Given the description of an element on the screen output the (x, y) to click on. 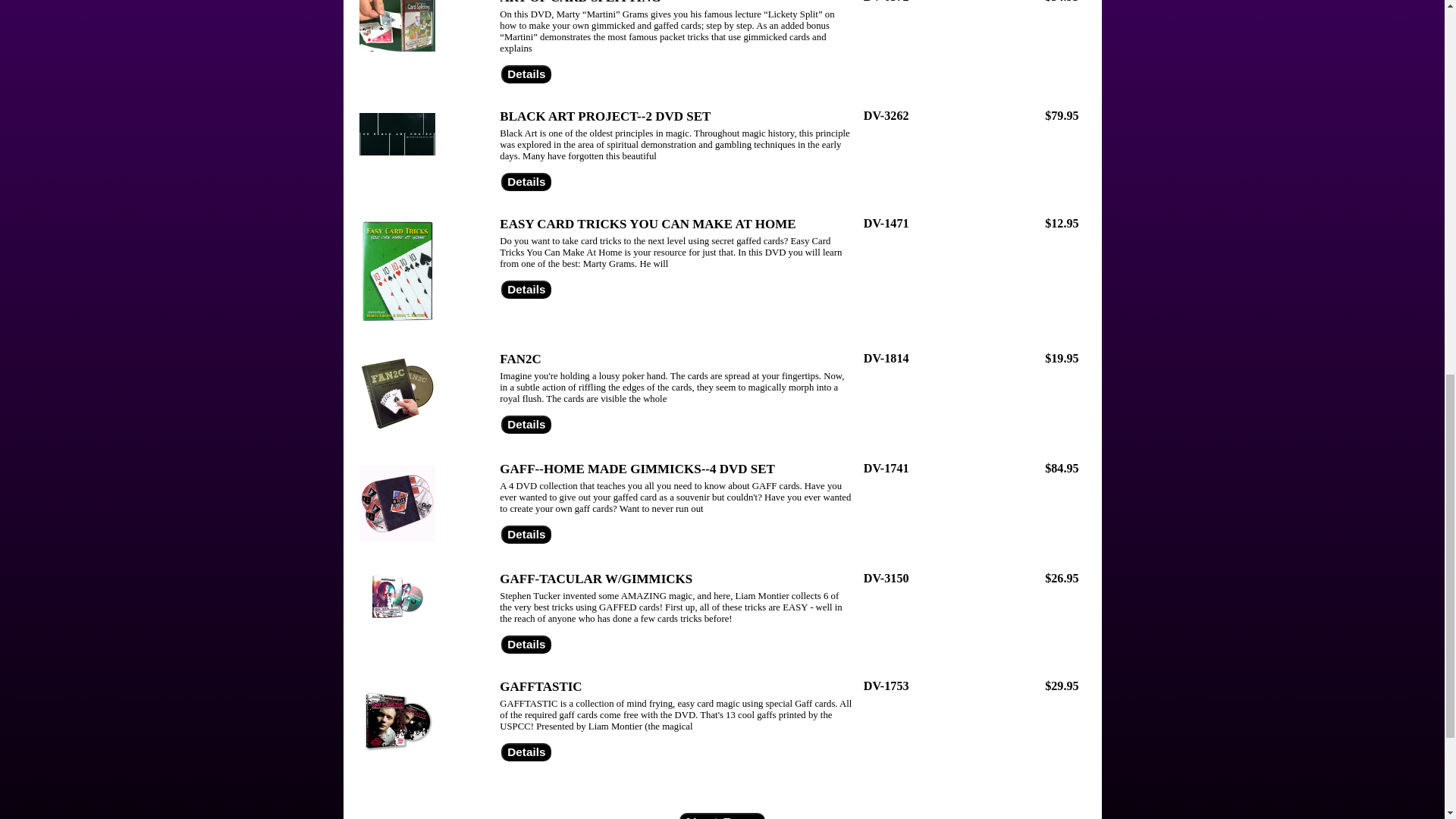
BLACK ART PROJECT--2 DVD SET (604, 115)
Details (525, 534)
Next Page (721, 816)
Details (525, 181)
Details (525, 751)
Details (525, 74)
FAN2C (519, 359)
ART OF CARD SPLITTING (580, 2)
GAFFTASTIC (539, 686)
Details (525, 424)
Details (525, 644)
GAFF--HOME MADE GIMMICKS--4 DVD SET (636, 468)
Details (525, 289)
EASY CARD TRICKS YOU CAN MAKE AT HOME (646, 223)
